Given the description of an element on the screen output the (x, y) to click on. 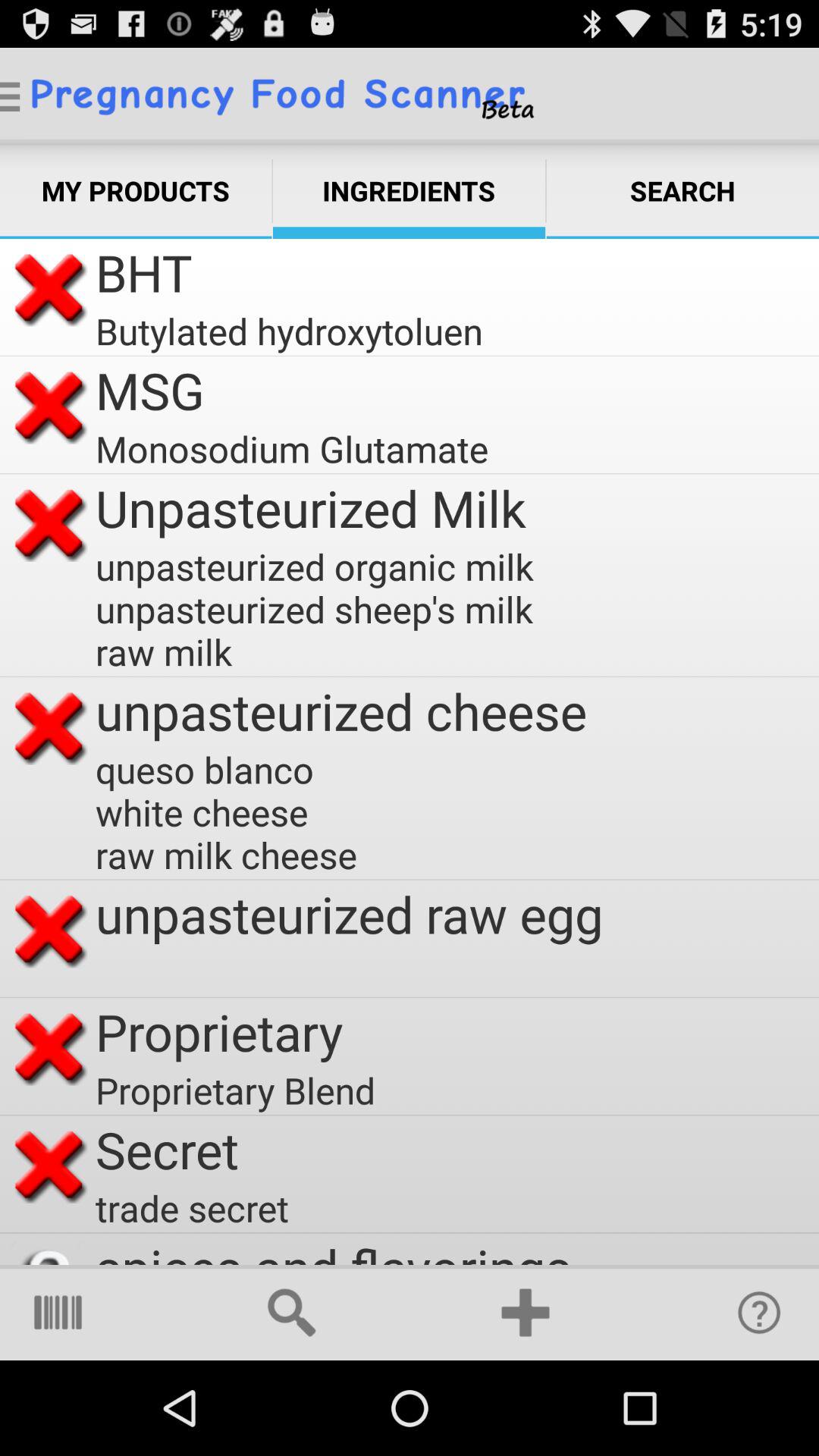
choose item below the bht (288, 330)
